Given the description of an element on the screen output the (x, y) to click on. 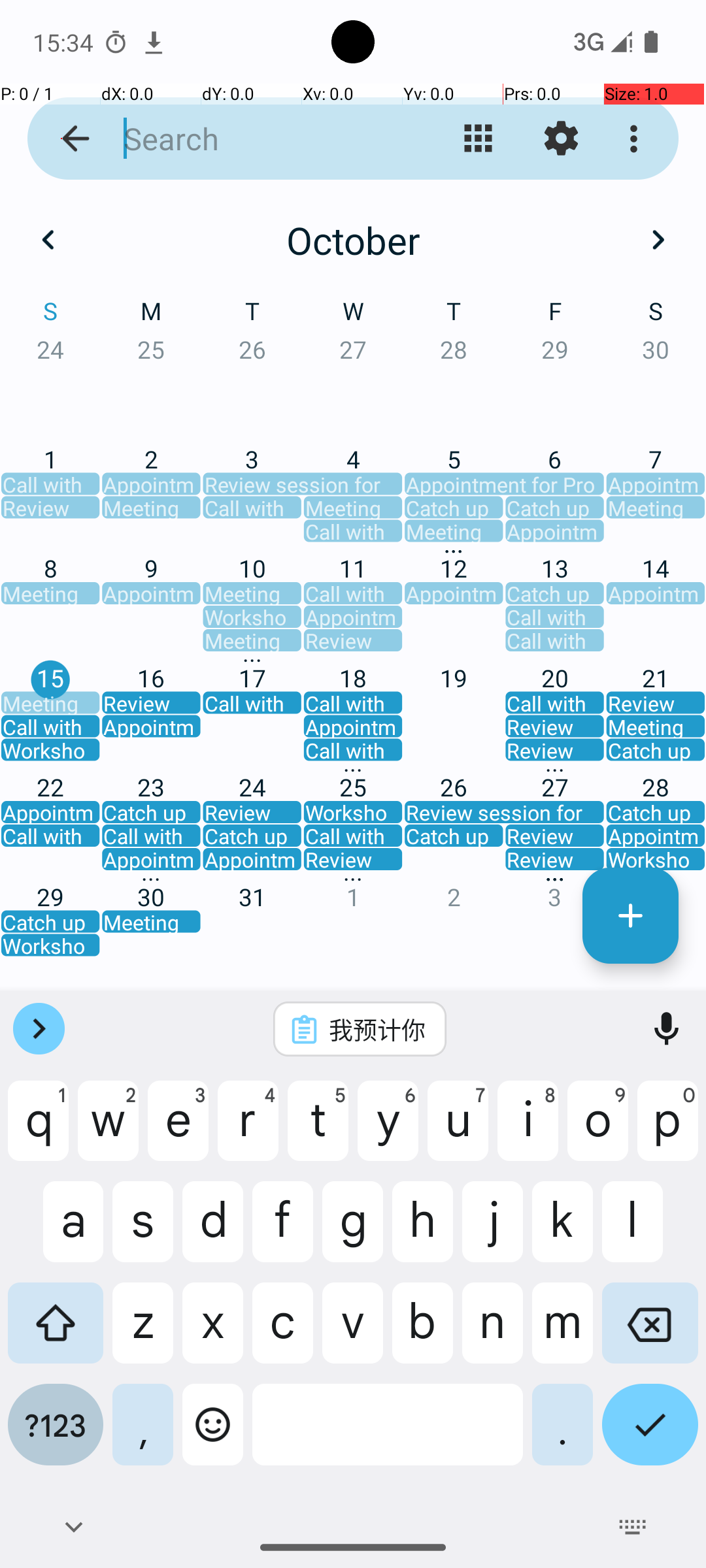
我预计你 Element type: android.widget.TextView (376, 1028)
